Given the description of an element on the screen output the (x, y) to click on. 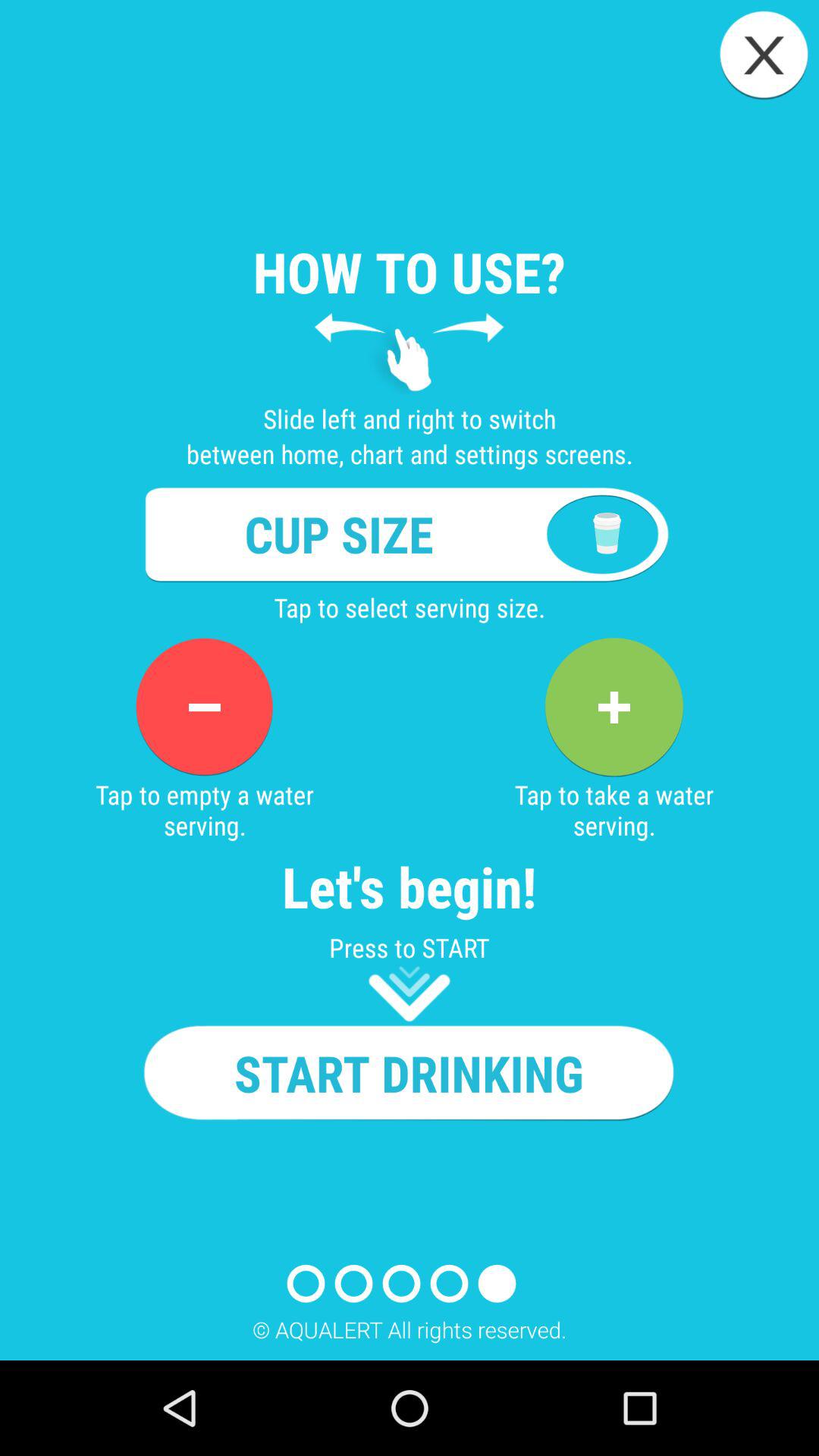
press icon above tap to empty (204, 706)
